Given the description of an element on the screen output the (x, y) to click on. 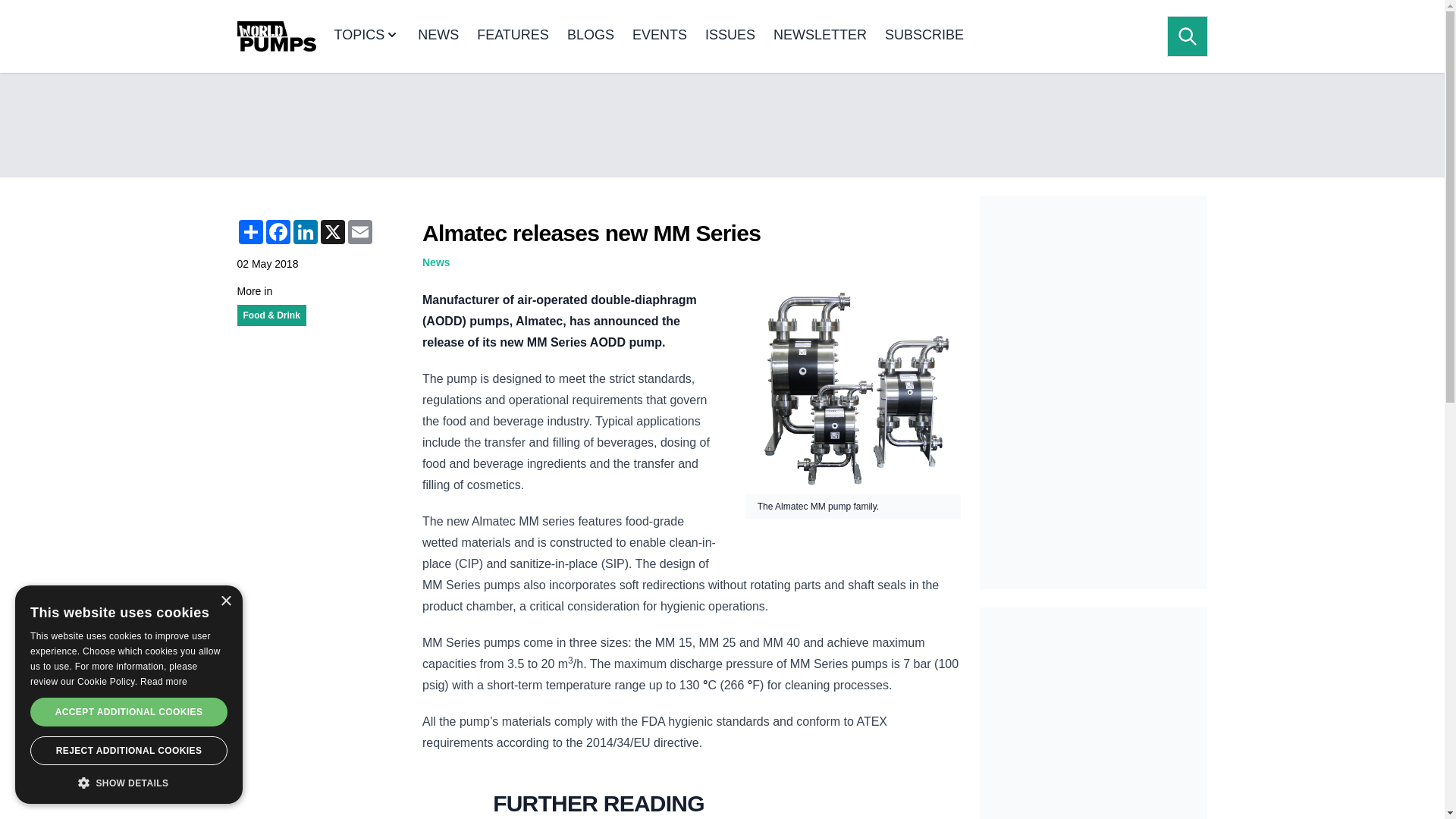
NEWSLETTER (819, 36)
TOPICS (365, 36)
FEATURES (512, 36)
Email (359, 232)
ISSUES (729, 36)
LinkedIn (304, 232)
NEWS (437, 36)
3rd party ad content (1093, 713)
X (332, 232)
EVENTS (659, 36)
Facebook (277, 232)
3rd party ad content (721, 124)
BLOGS (590, 36)
3rd party ad content (1093, 308)
SUBSCRIBE (924, 36)
